Given the description of an element on the screen output the (x, y) to click on. 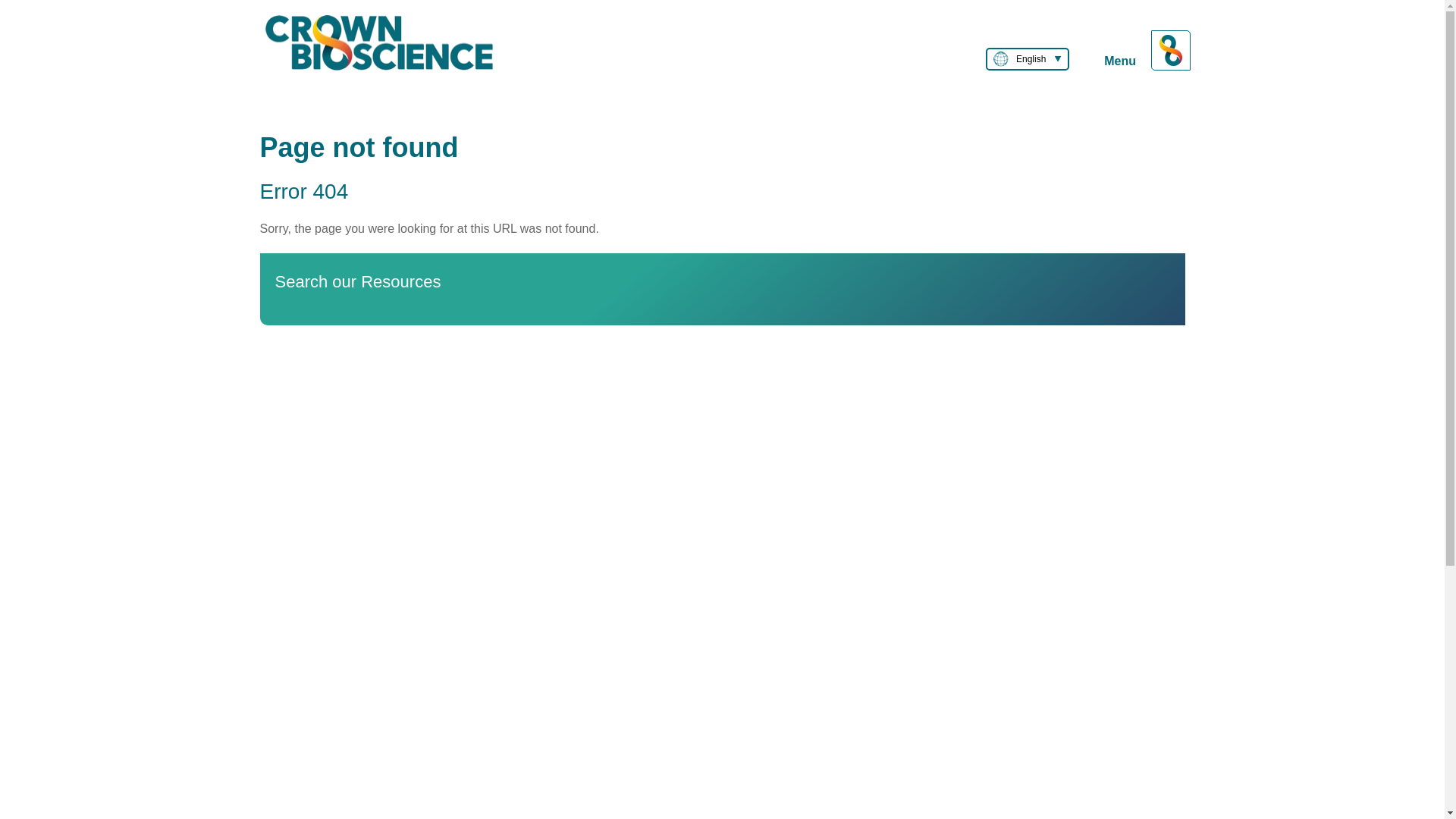
English (1026, 58)
